Given the description of an element on the screen output the (x, y) to click on. 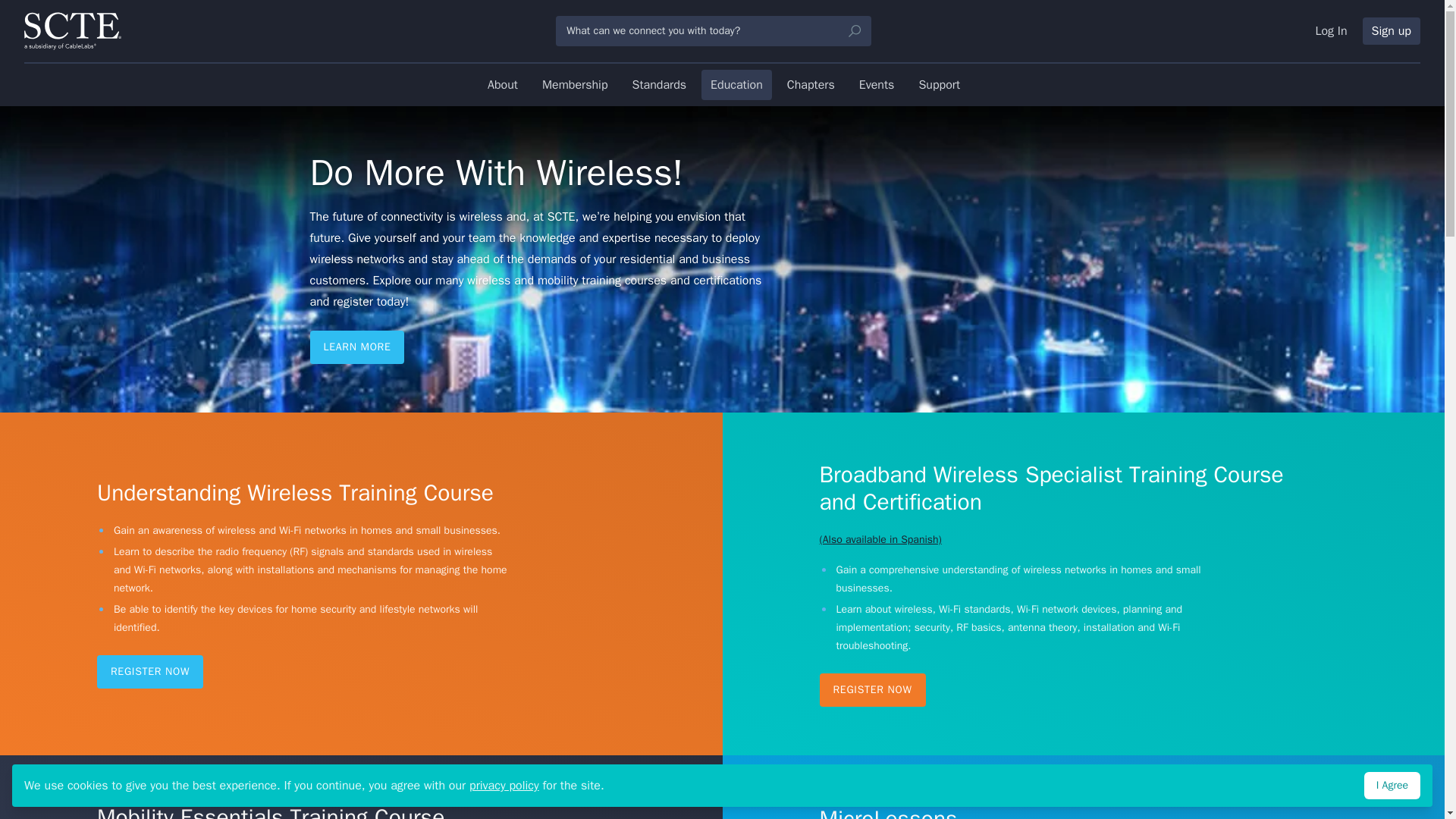
About (503, 84)
Standards (659, 84)
Education (736, 84)
Membership (574, 84)
Sign up (1391, 31)
Log In (1330, 31)
